Given the description of an element on the screen output the (x, y) to click on. 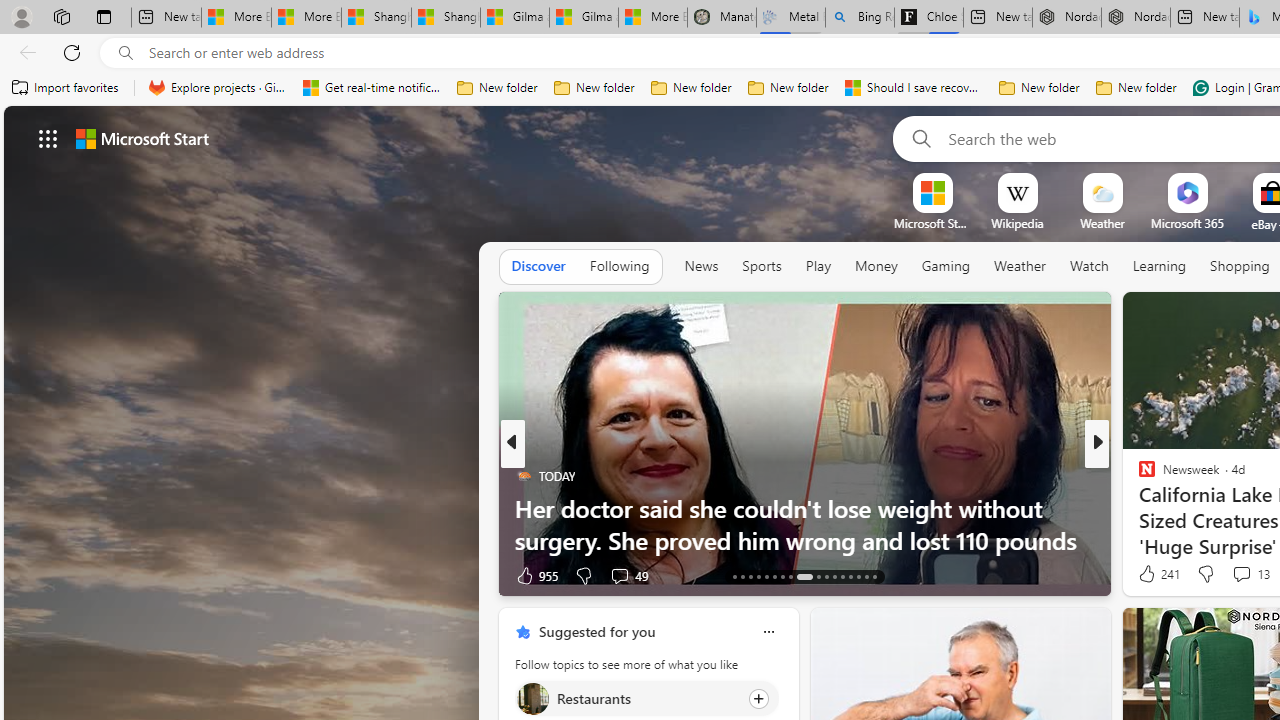
New folder (1136, 88)
Watch (1089, 267)
Forge of Empires (1175, 507)
AutomationID: tab-14 (742, 576)
AutomationID: tab-29 (874, 576)
Gaming (945, 265)
AutomationID: tab-17 (765, 576)
Sports (761, 265)
2 Like (1145, 574)
